Given the description of an element on the screen output the (x, y) to click on. 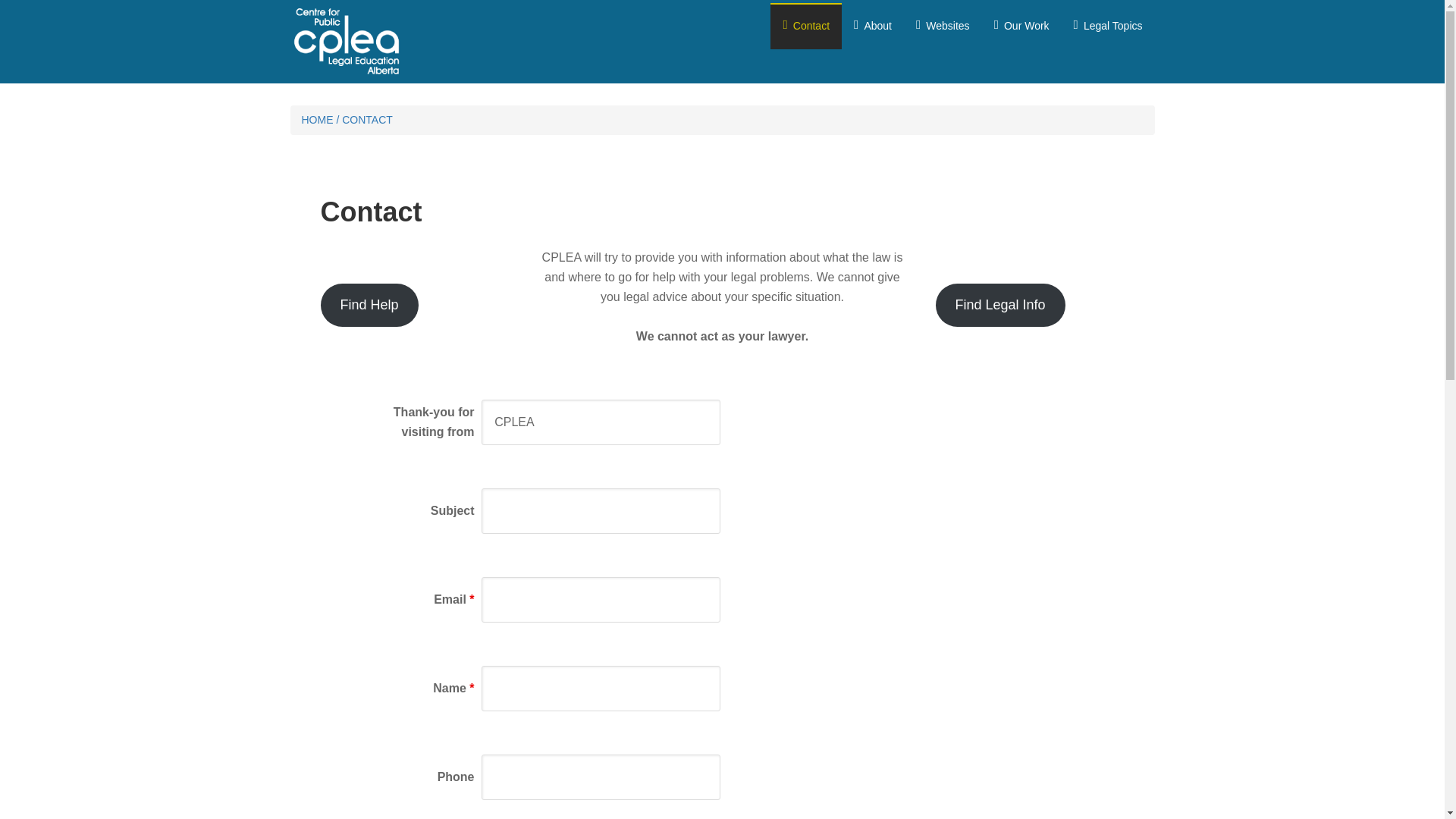
HOME (317, 119)
CPLEA.CA (402, 40)
Find Help (368, 304)
Find Legal Info (1000, 304)
CPLEA (600, 422)
Our Work (1021, 26)
Legal Topics (1107, 26)
About (872, 26)
Websites (942, 26)
Contact (805, 26)
